Given the description of an element on the screen output the (x, y) to click on. 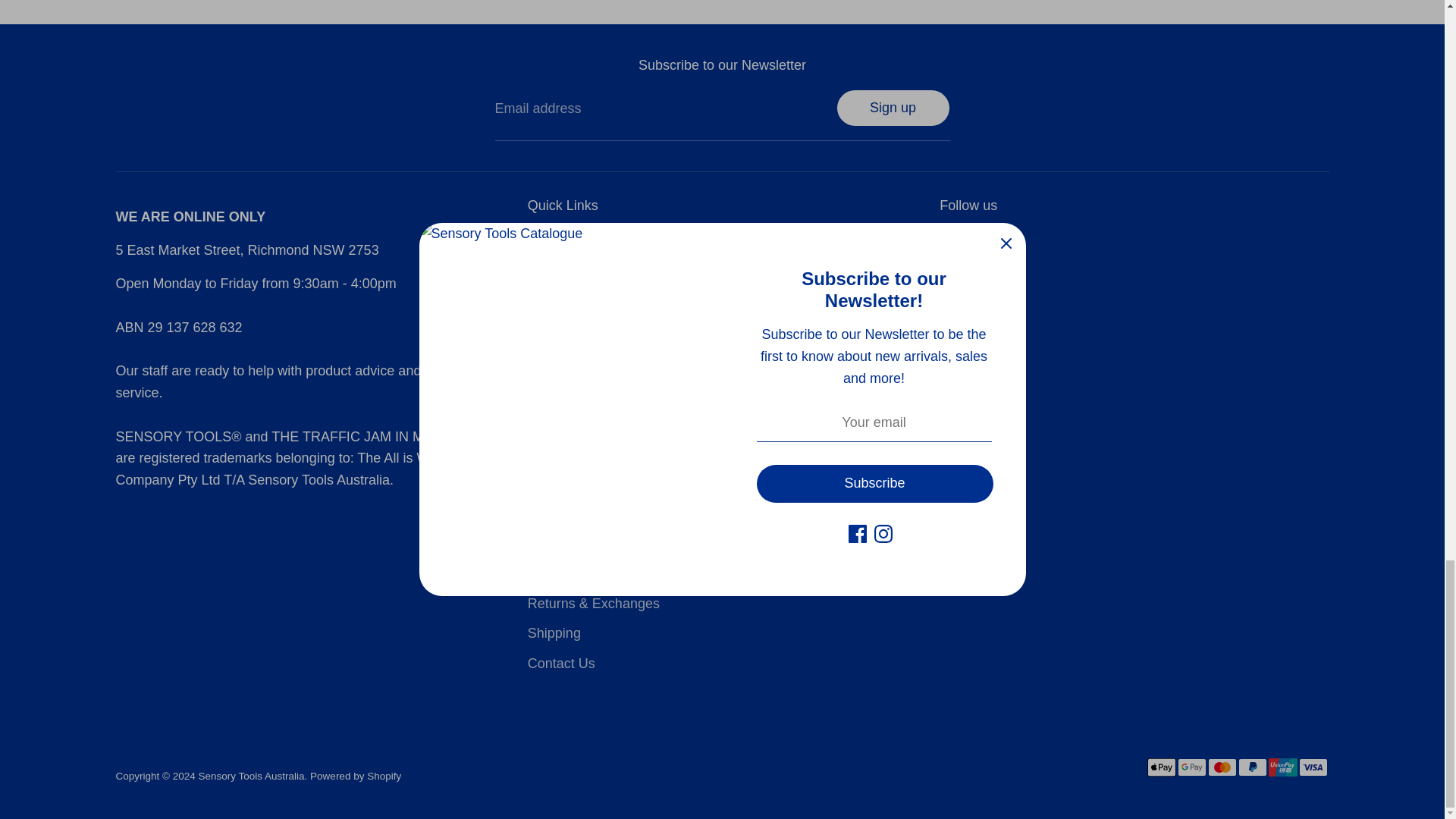
Apple Pay (1160, 767)
